Given the description of an element on the screen output the (x, y) to click on. 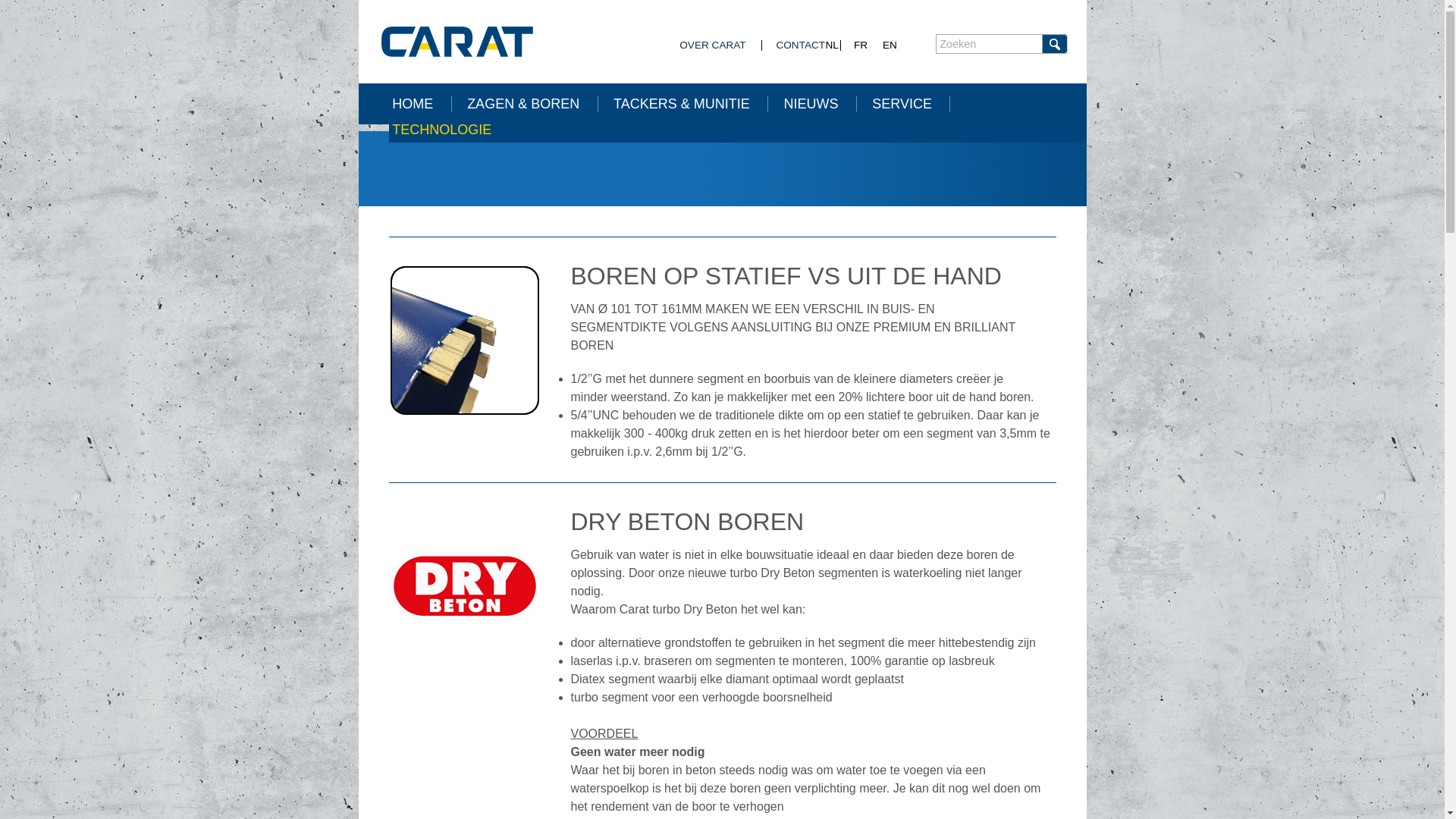
EN Element type: text (889, 44)
SERVICE Element type: text (911, 103)
ZAGEN & BOREN Element type: text (532, 103)
TACKERS & MUNITIE Element type: text (690, 103)
HOME Element type: text (421, 103)
NL Element type: text (831, 44)
Geef de woorden op waarnaar u wilt zoeken. Element type: hover (988, 43)
CONTACT Element type: text (800, 44)
FR Element type: text (860, 44)
Overslaan en naar de inhoud gaan Element type: text (93, 0)
OVER CARAT Element type: text (712, 44)
NIEUWS Element type: text (820, 103)
TECHNOLOGIE Element type: text (450, 129)
